Given the description of an element on the screen output the (x, y) to click on. 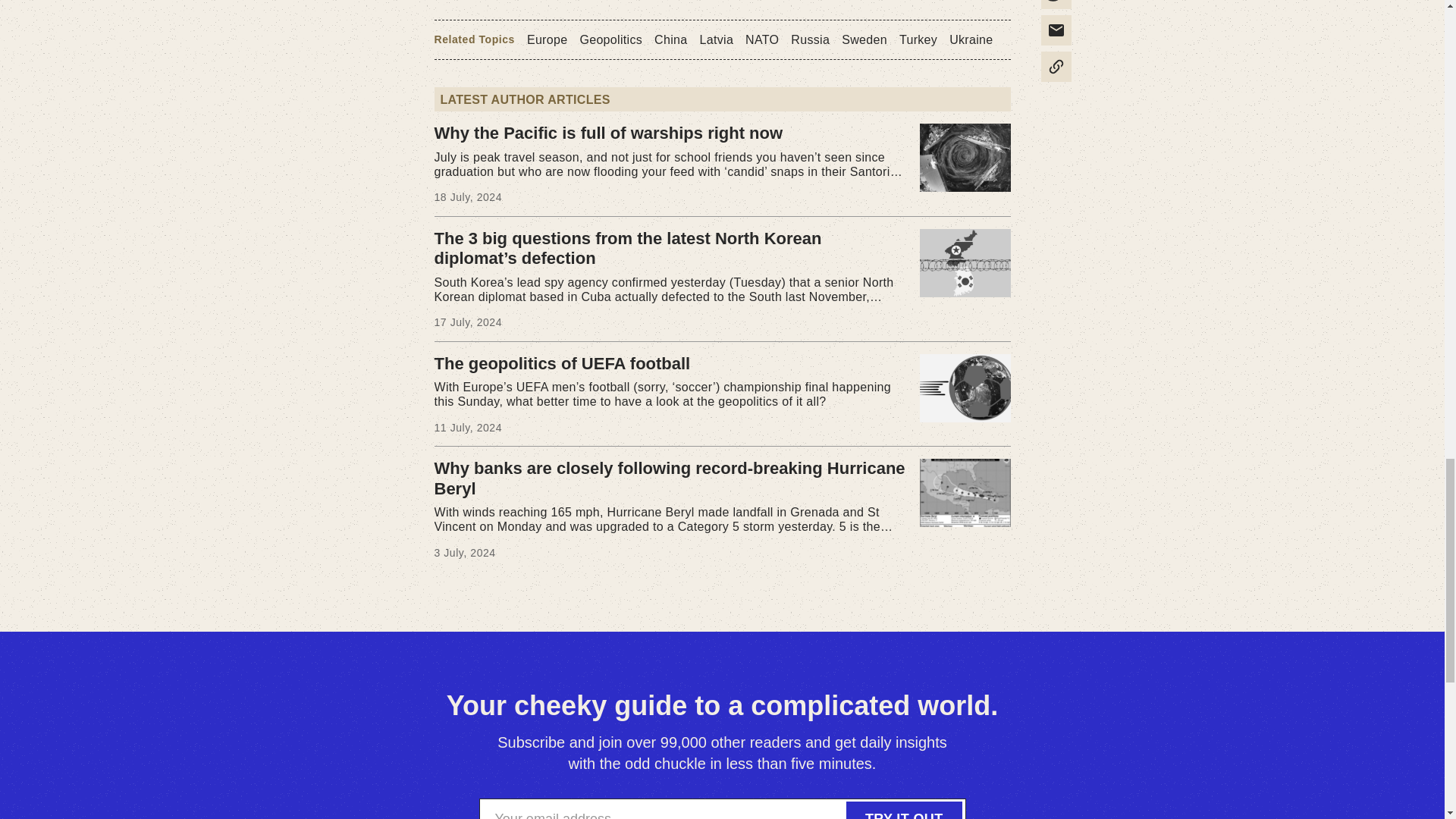
Try it out (903, 810)
